Given the description of an element on the screen output the (x, y) to click on. 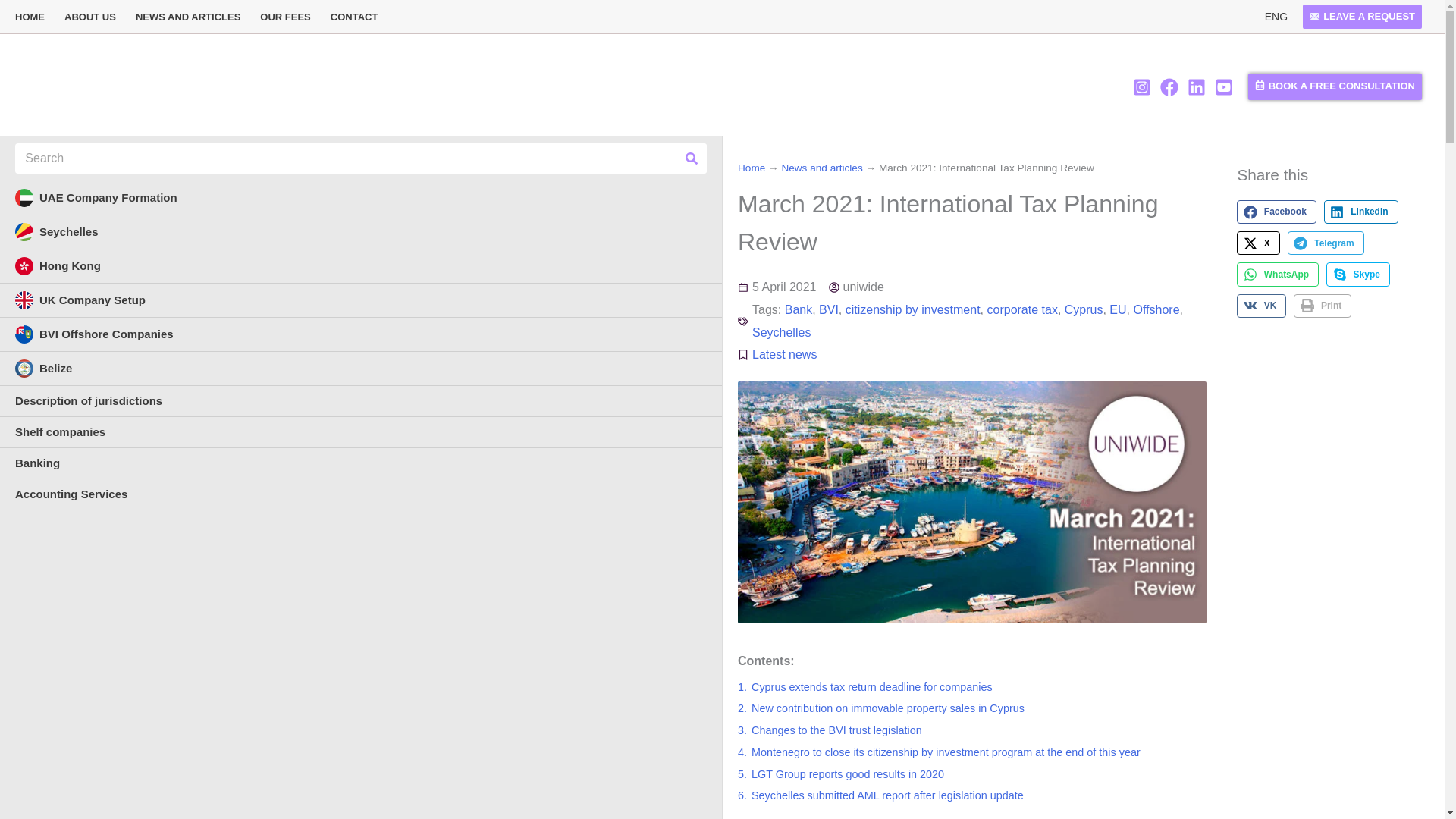
ENG (1276, 16)
BOOK A FREE CONSULTATION (1334, 86)
NEWS AND ARTICLES (187, 16)
UAE Company Formation (361, 197)
CONTACT (354, 16)
LEAVE A REQUEST (1362, 16)
OUR FEES (285, 16)
Seychelles (361, 232)
ABOUT US (90, 16)
HOME (34, 16)
Search (691, 158)
